Given the description of an element on the screen output the (x, y) to click on. 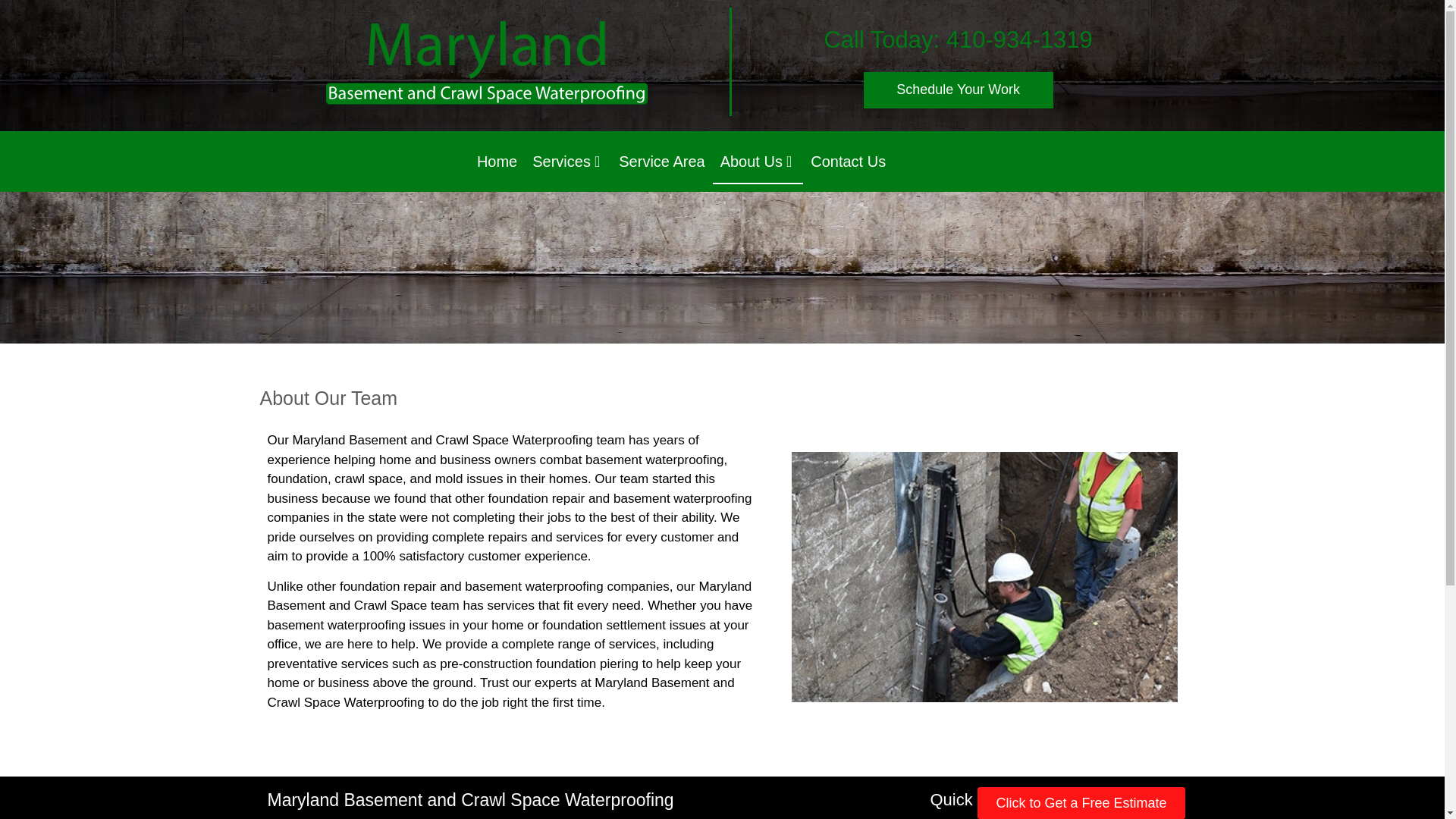
Home (496, 161)
Contact Us Today (957, 89)
Schedule Your Work (957, 89)
call us today (1019, 39)
410-934-1319 (1019, 39)
Services (567, 161)
